Given the description of an element on the screen output the (x, y) to click on. 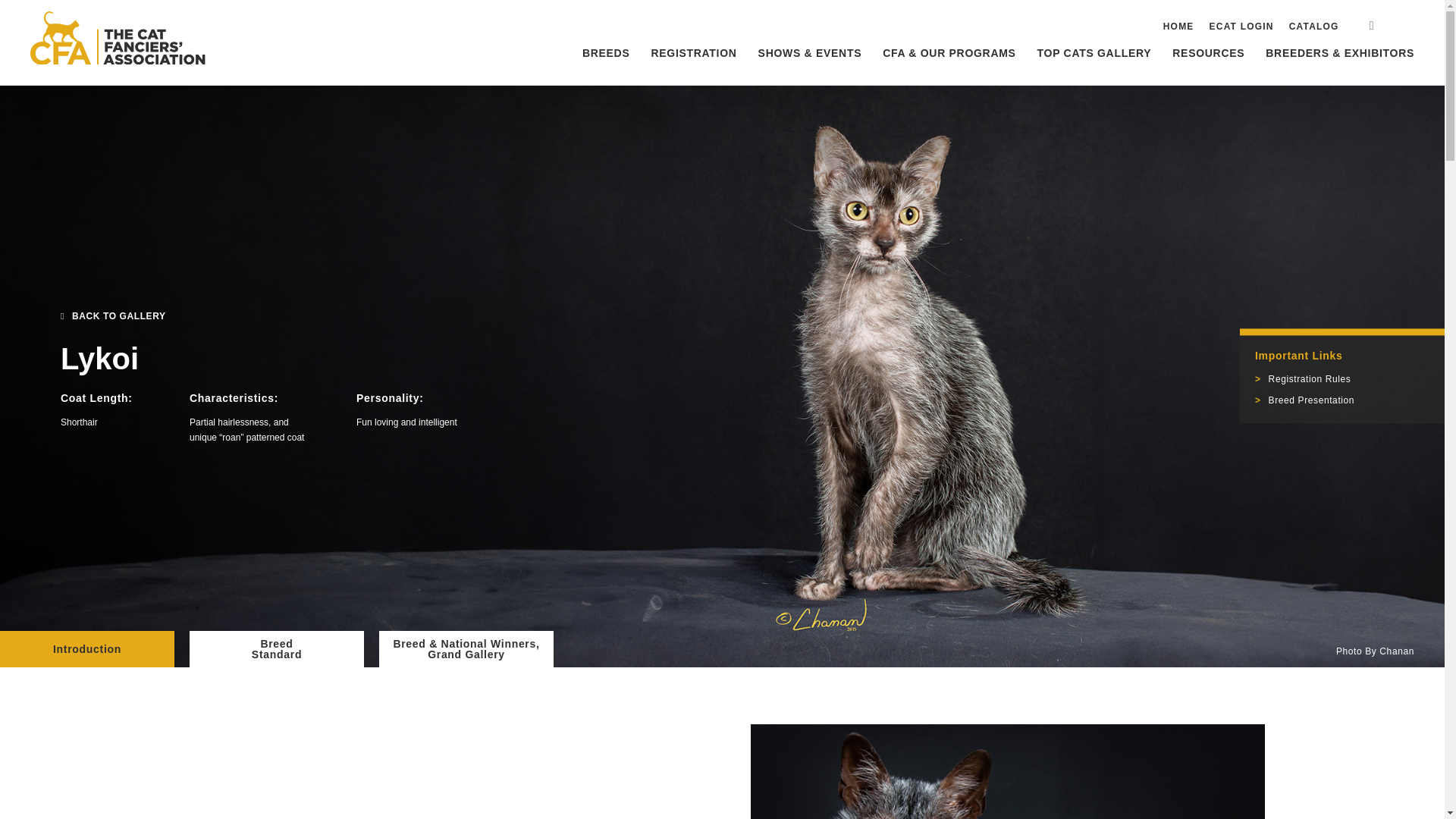
HOME (1178, 26)
BREEDS (606, 52)
ECAT LOGIN (1241, 26)
REGISTRATION (693, 52)
CATALOG (1313, 26)
